Given the description of an element on the screen output the (x, y) to click on. 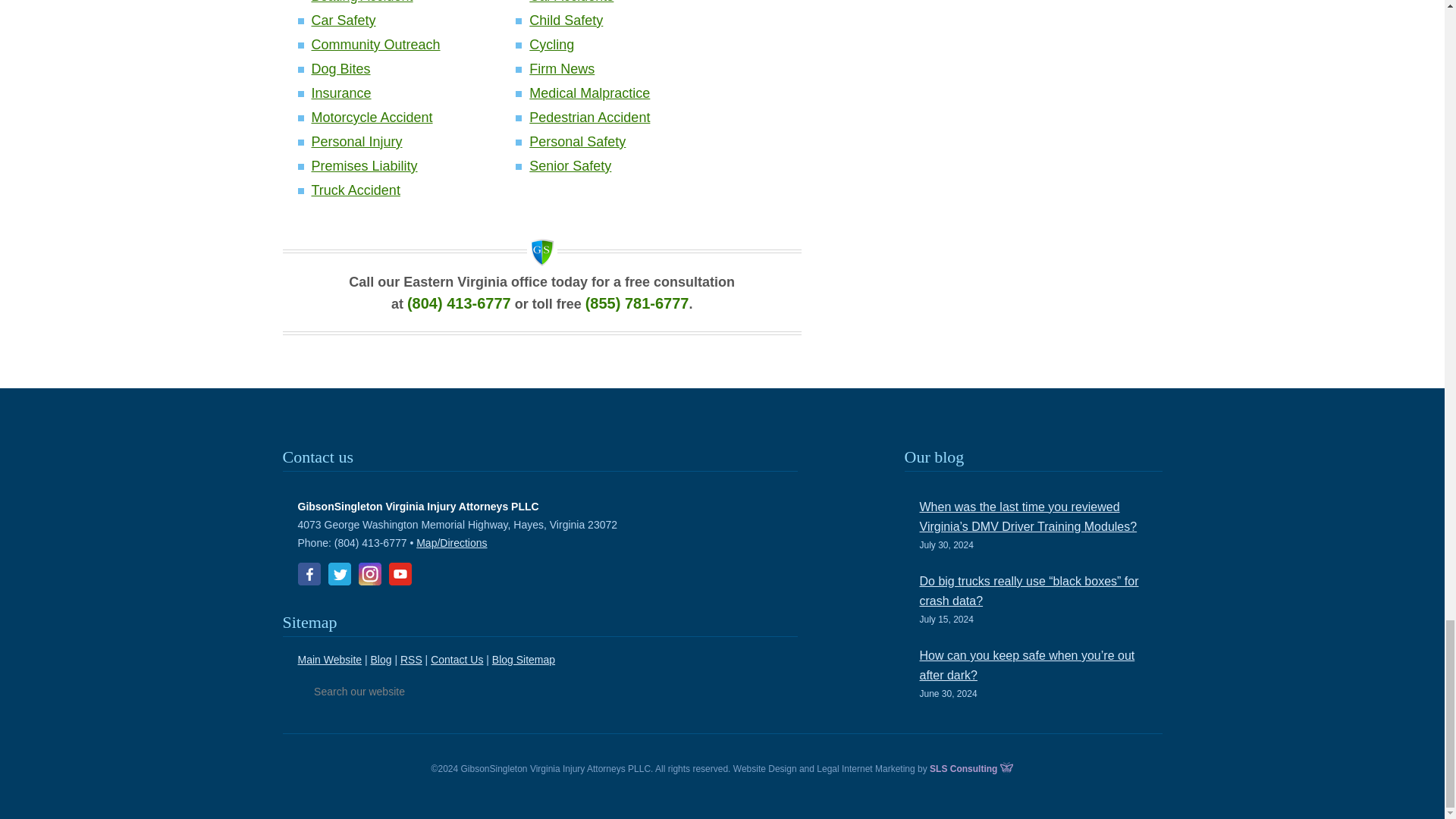
Search our website (395, 691)
Follow us on Facebook (308, 573)
Follow us on Twitter (338, 573)
Instagram (369, 573)
Search our website (395, 691)
View our YouTube Videos (399, 573)
